Given the description of an element on the screen output the (x, y) to click on. 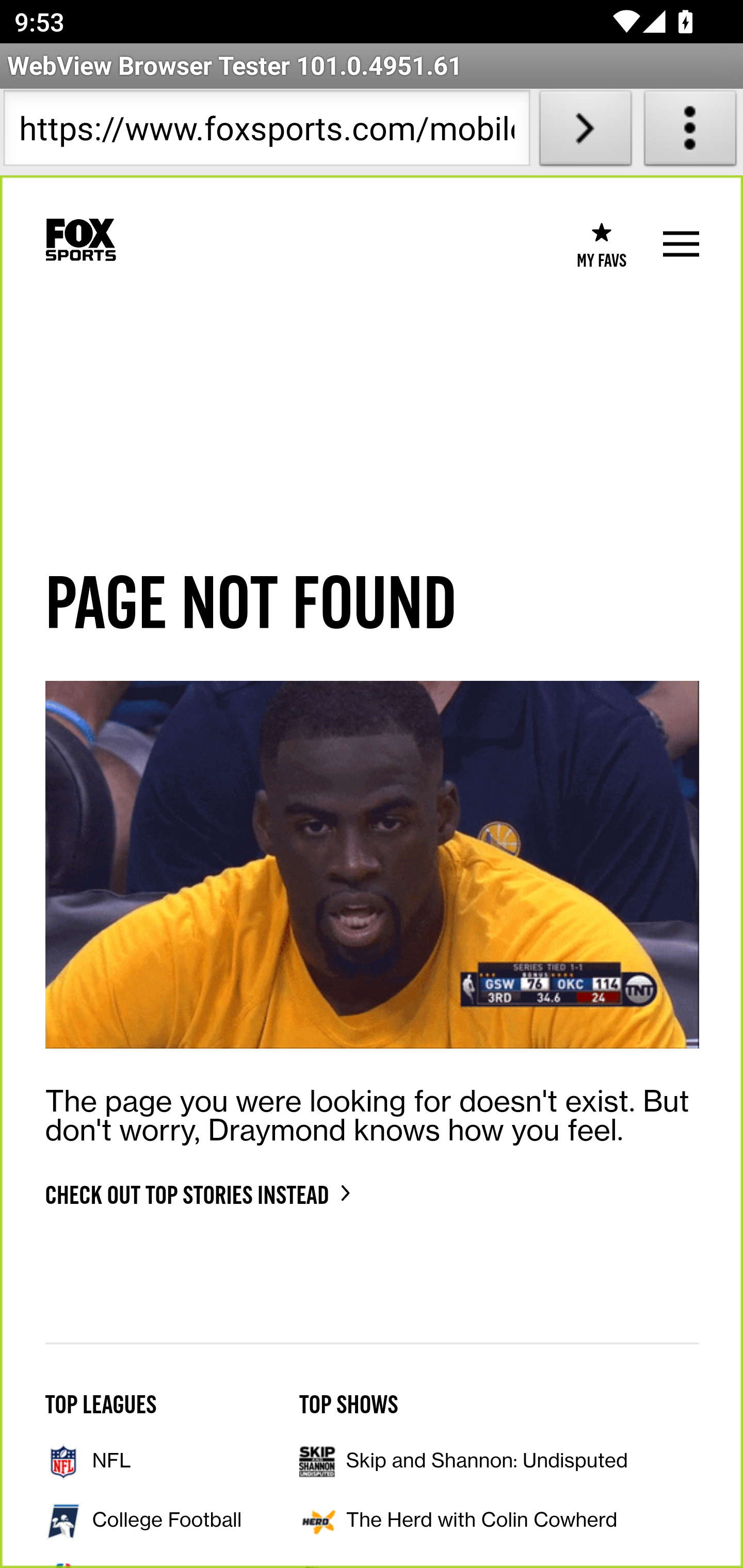
https://www.foxsports.com/mobileLiverpool (266, 132)
Load URL (585, 132)
About WebView (690, 132)
Home Page Link (80, 240)
CHECK OUT TOP STORIES INSTEAD (186, 1193)
NFL NFL NFL NFL (145, 1461)
